Given the description of an element on the screen output the (x, y) to click on. 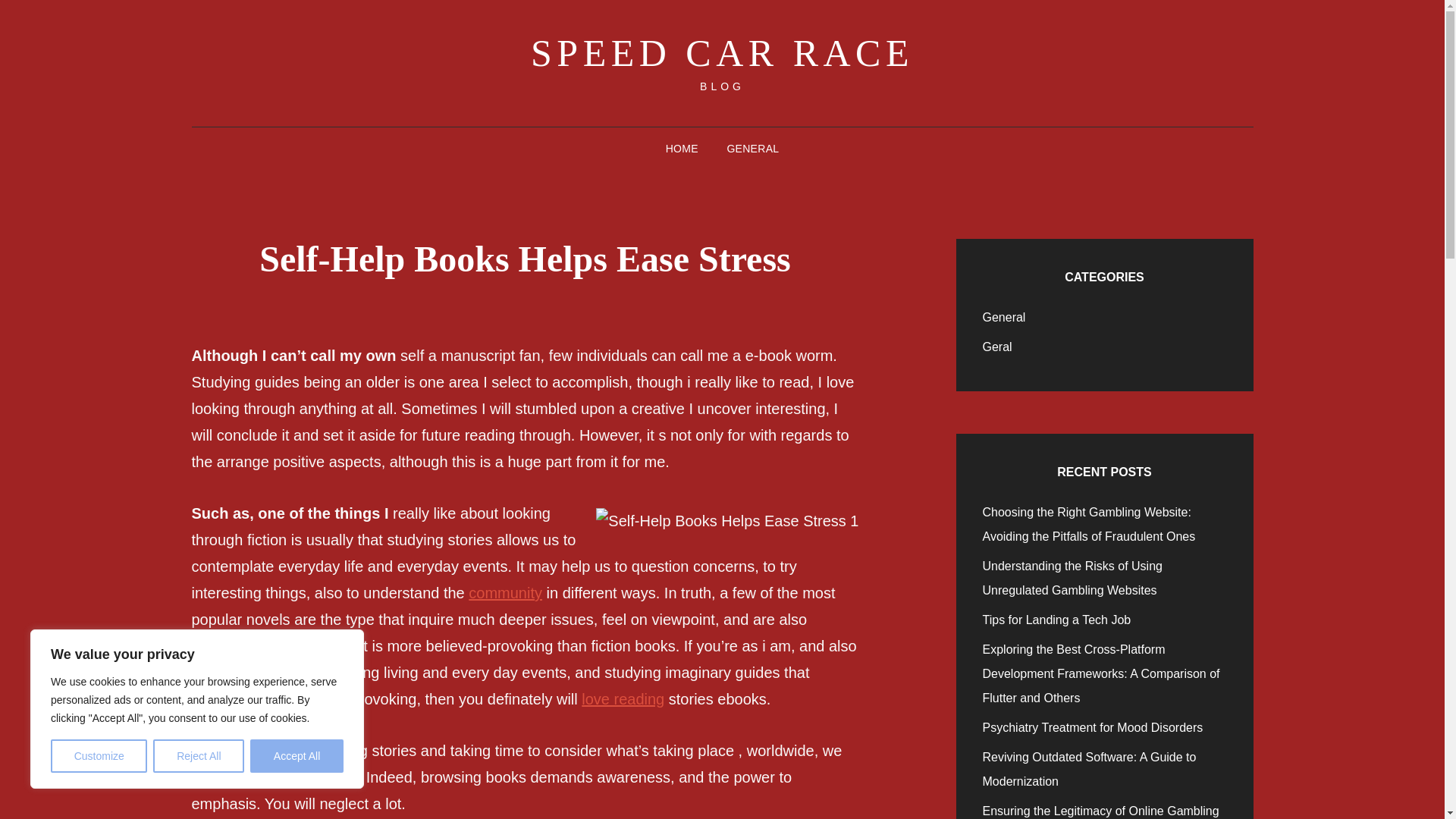
HOME (681, 148)
Tips for Landing a Tech Job (1056, 619)
Psychiatry Treatment for Mood Disorders (1093, 727)
love reading (621, 699)
GENERAL (752, 148)
Ensuring the Legitimacy of Online Gambling Platforms (1101, 811)
General (1004, 317)
Geral (996, 346)
